Given the description of an element on the screen output the (x, y) to click on. 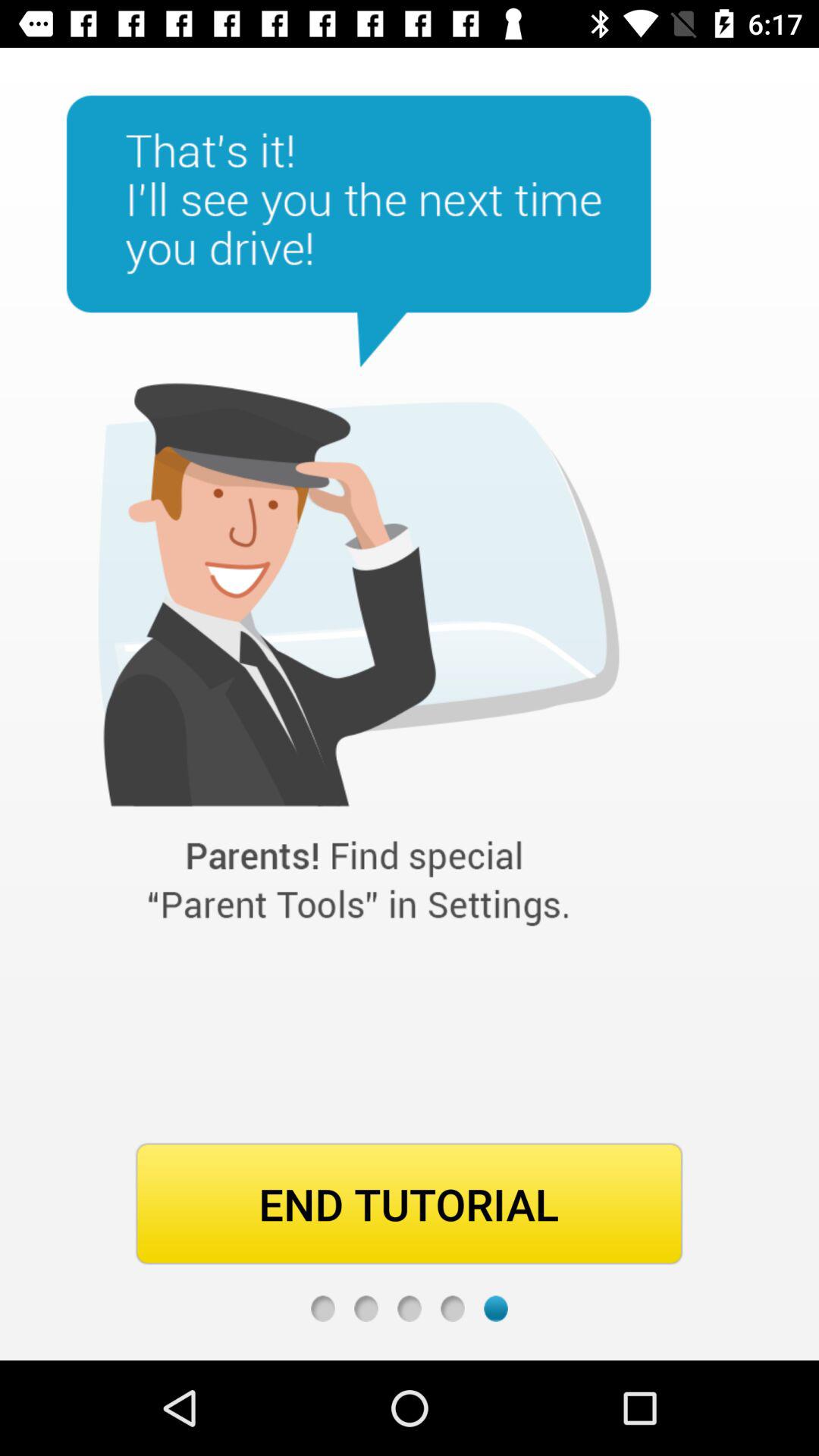
go to previous screen (409, 1308)
